Given the description of an element on the screen output the (x, y) to click on. 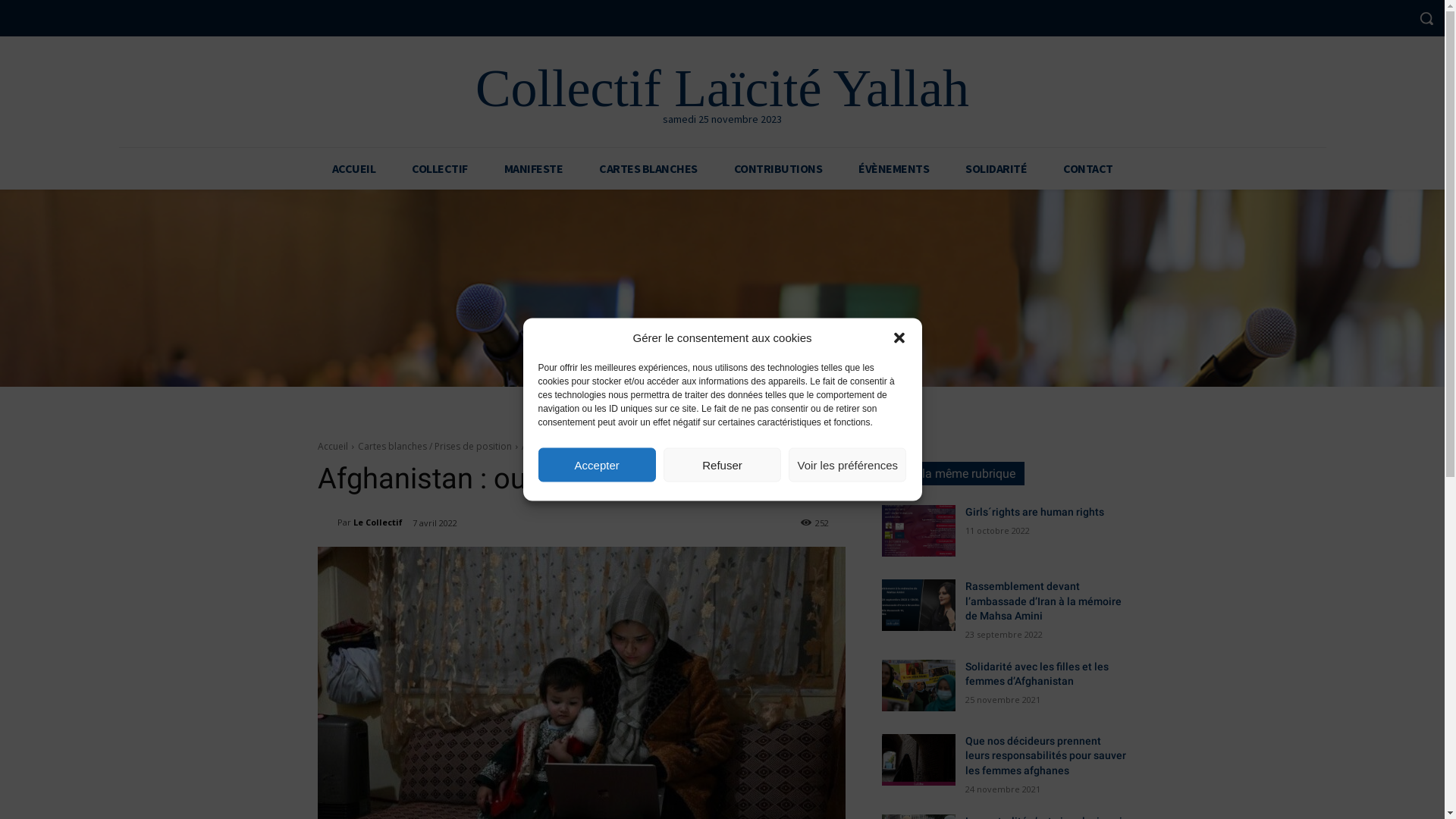
Le Collectif Element type: text (377, 522)
MANIFESTE Element type: text (532, 168)
Accueil Element type: text (331, 445)
Le Collectif Element type: hover (326, 522)
ACCUEIL Element type: text (353, 168)
Accepter Element type: text (596, 464)
Refuser Element type: text (722, 464)
CONTACT Element type: text (1087, 168)
CONTRIBUTIONS Element type: text (777, 168)
Cartes blanches / Prises de position Element type: text (434, 445)
CARTES BLANCHES Element type: text (647, 168)
COLLECTIF Element type: text (439, 168)
